Given the description of an element on the screen output the (x, y) to click on. 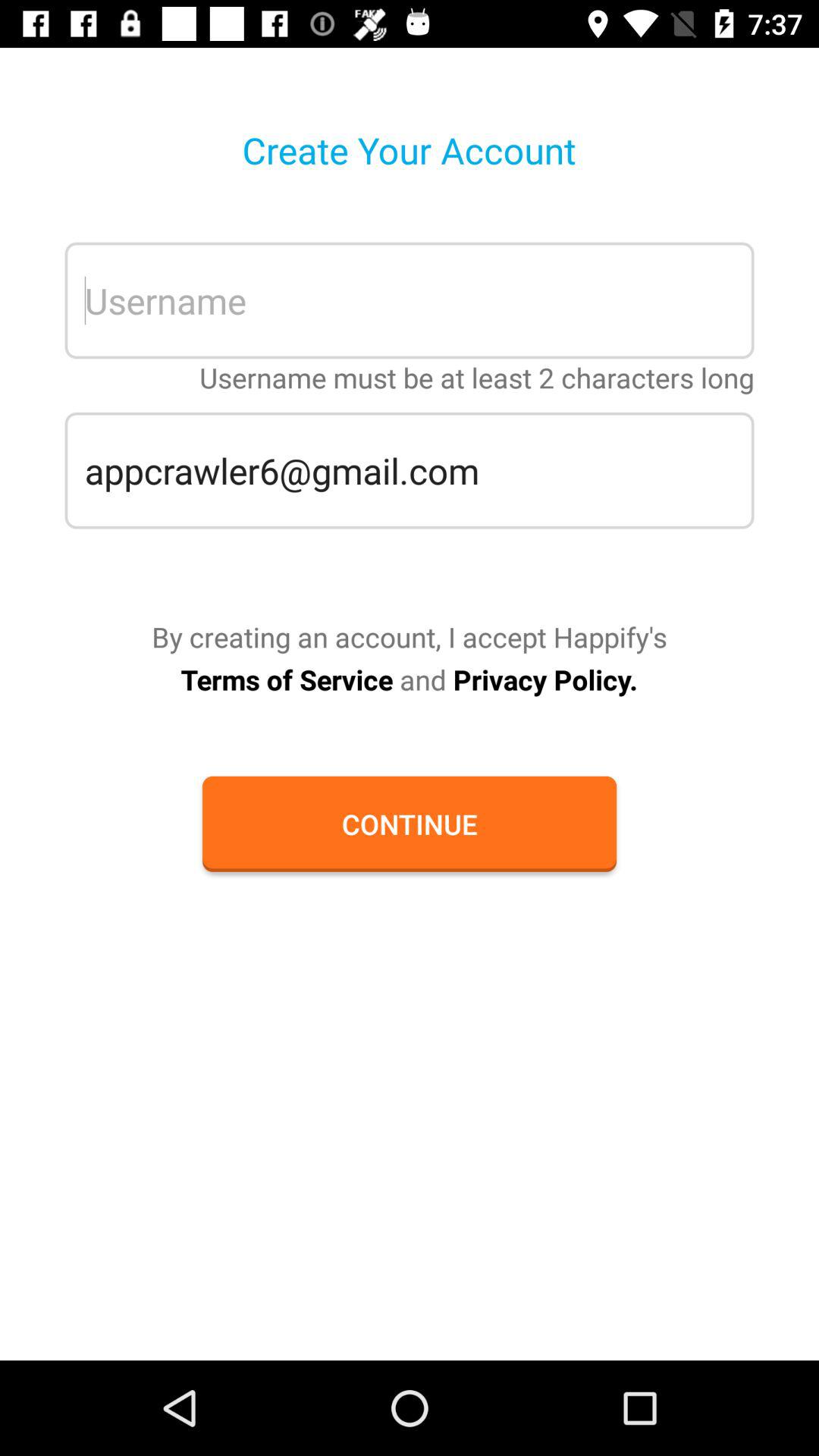
turn on icon below the terms of service (409, 823)
